Given the description of an element on the screen output the (x, y) to click on. 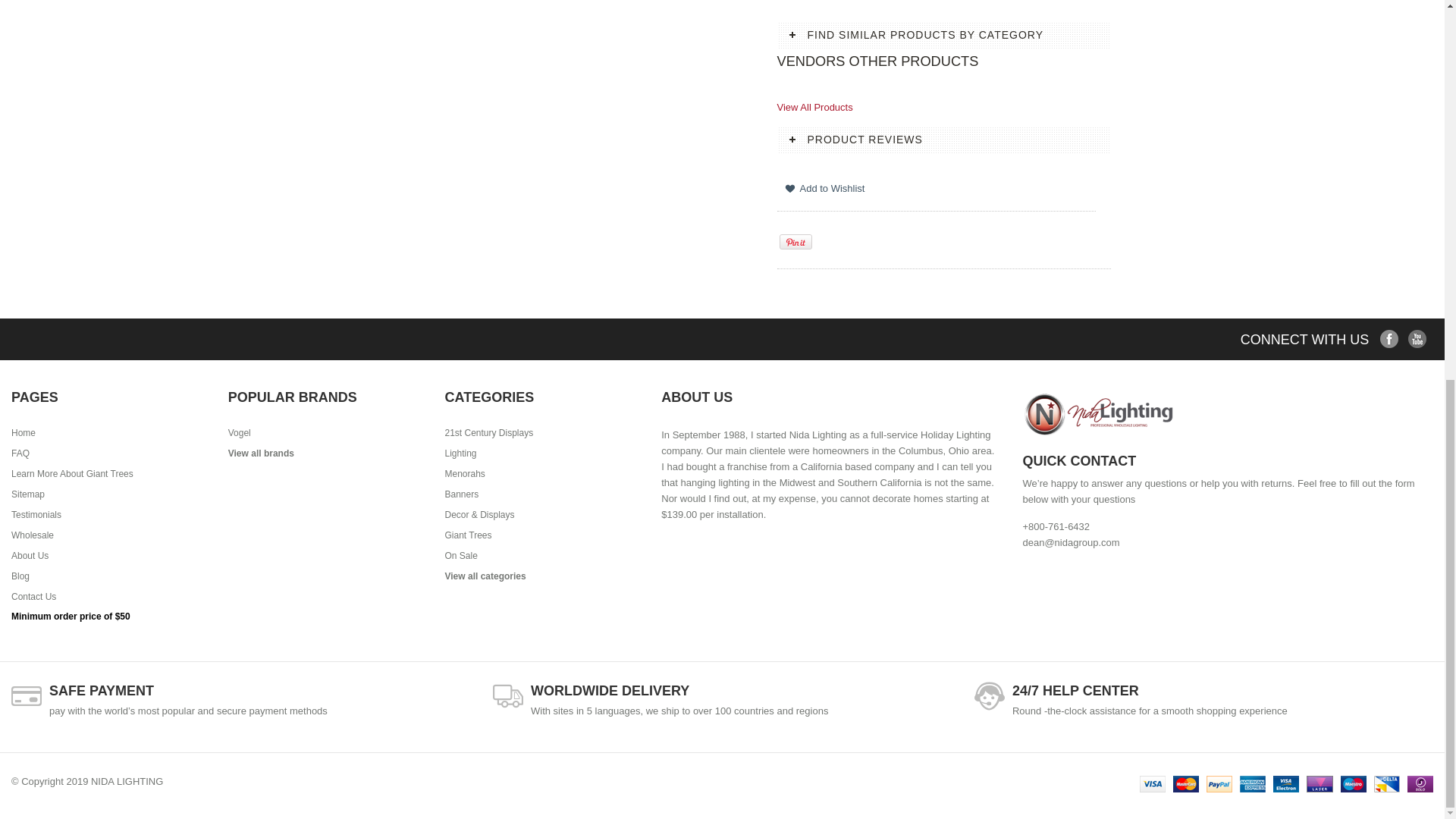
call (989, 695)
Facebook (1389, 339)
Add to Wishlist (827, 187)
YouTube (1416, 339)
cradit-card-icon (26, 695)
delivery-icon (507, 695)
